Given the description of an element on the screen output the (x, y) to click on. 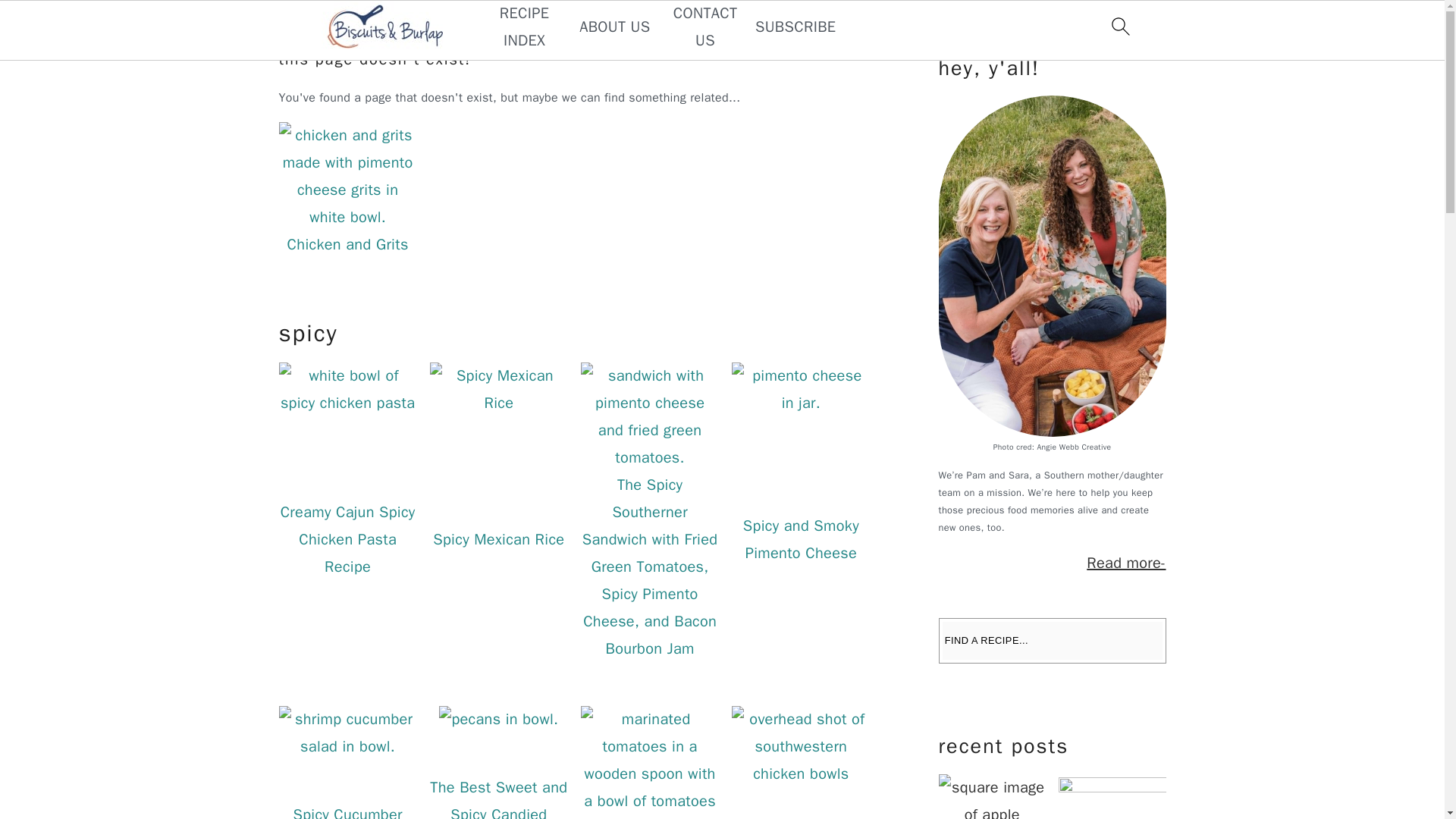
Spicy and Smoky Pimento Cheese (800, 539)
Creamy Cajun Spicy Chicken Pasta Recipe (347, 539)
Spicy Cucumber and Shrimp Salad (346, 812)
SUBSCRIBE (795, 26)
The Best Sweet and Spicy Candied Pecans (498, 798)
Chicken and Grits (347, 244)
RECIPE INDEX (523, 27)
Spicy Mexican Rice (498, 538)
CONTACT US (705, 27)
